Given the description of an element on the screen output the (x, y) to click on. 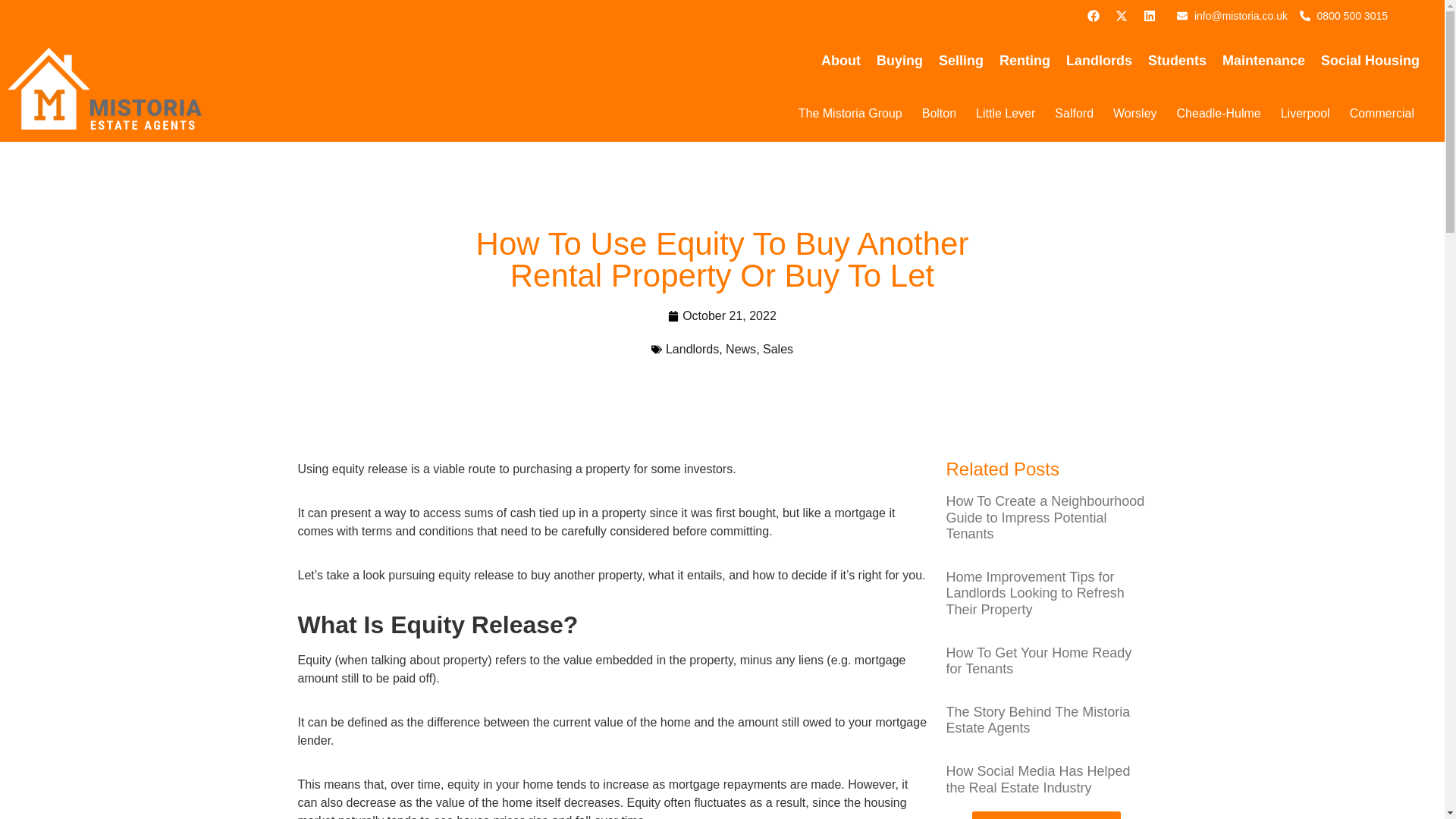
Renting (1024, 60)
About (840, 60)
Social Housing (1369, 60)
Students (1176, 60)
Buying (899, 60)
Selling (961, 60)
0800 500 3015 (1343, 15)
Landlords (1098, 60)
Maintenance (1263, 60)
